Given the description of an element on the screen output the (x, y) to click on. 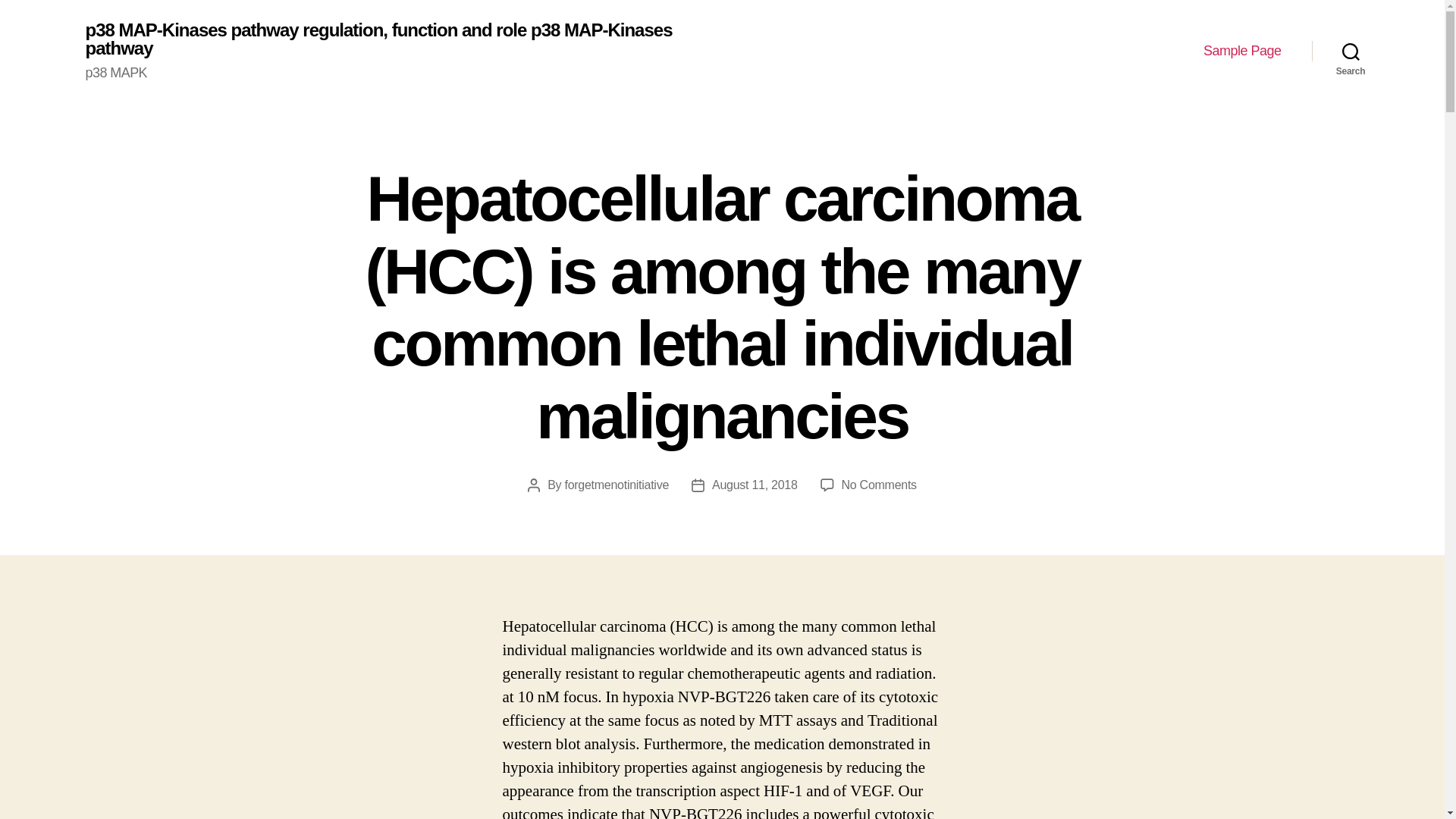
August 11, 2018 (754, 484)
forgetmenotinitiative (616, 484)
Search (1350, 51)
Sample Page (1242, 51)
